Given the description of an element on the screen output the (x, y) to click on. 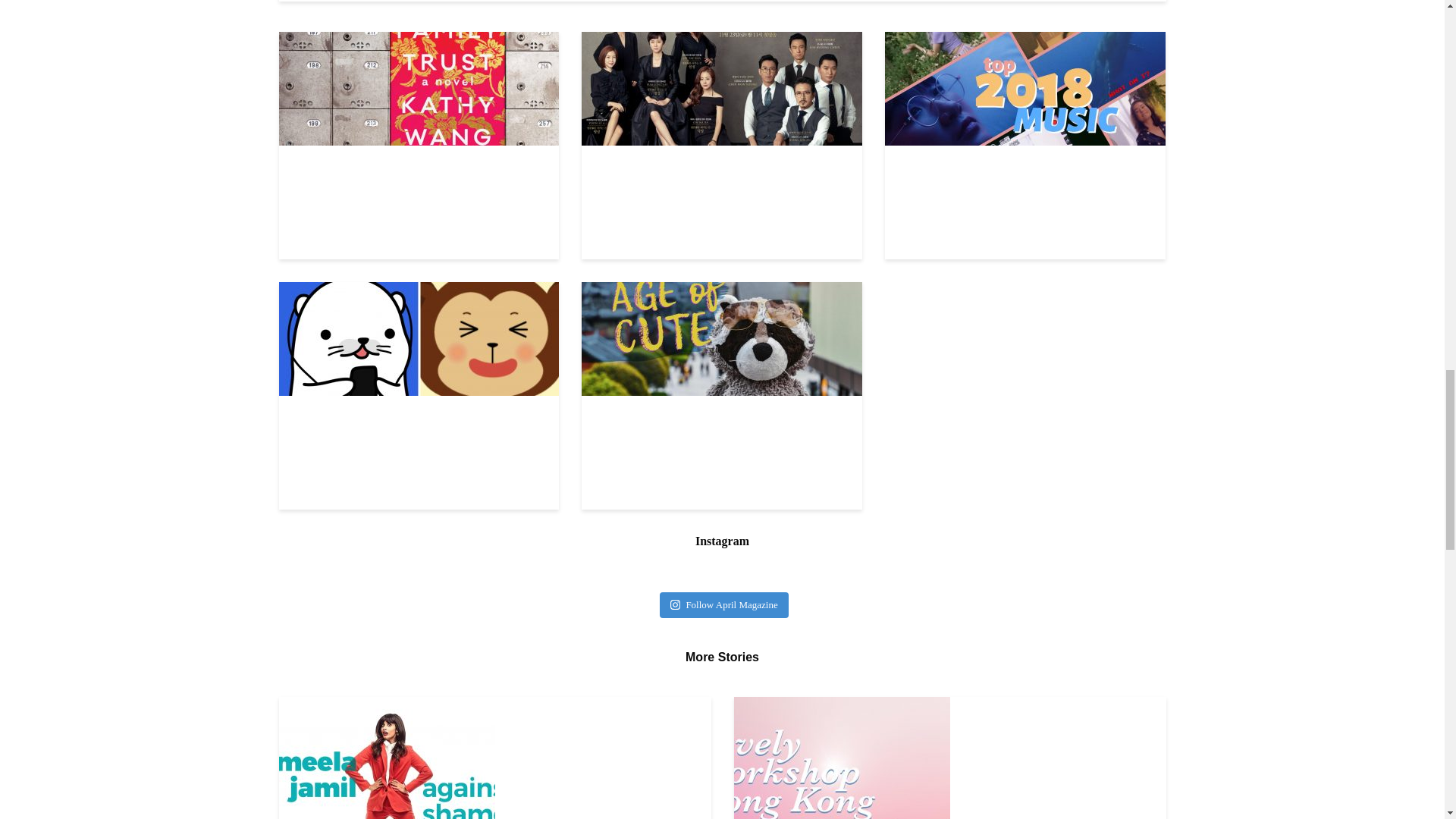
Music (1025, 87)
Brand (419, 337)
Film (720, 87)
Book (419, 87)
